Given the description of an element on the screen output the (x, y) to click on. 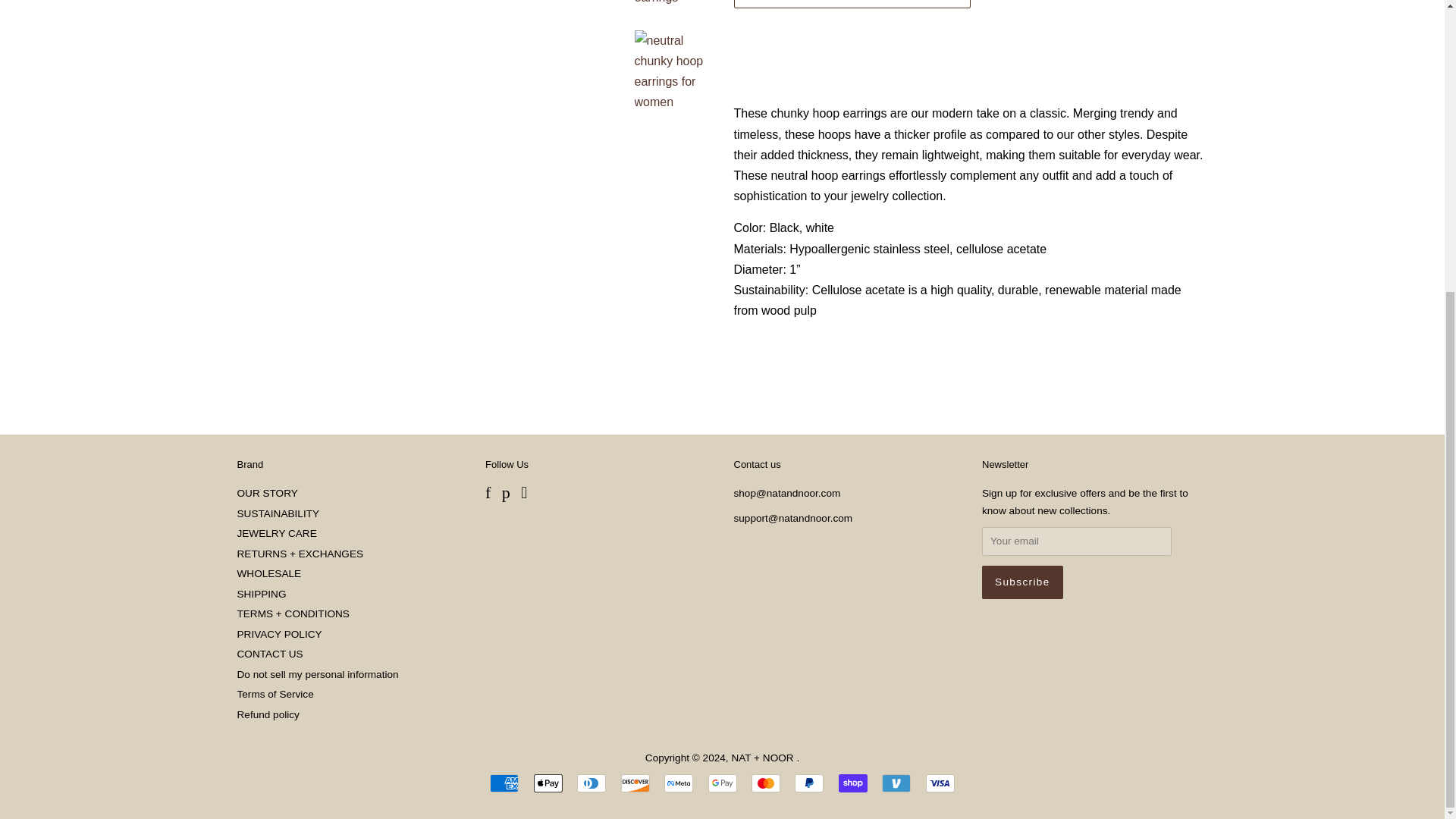
Discover (635, 782)
Mastercard (765, 782)
Shop Pay (852, 782)
Visa (940, 782)
Diners Club (590, 782)
Google Pay (721, 782)
American Express (503, 782)
PayPal (809, 782)
Subscribe (1021, 581)
Apple Pay (548, 782)
Venmo (896, 782)
Meta Pay (678, 782)
